Given the description of an element on the screen output the (x, y) to click on. 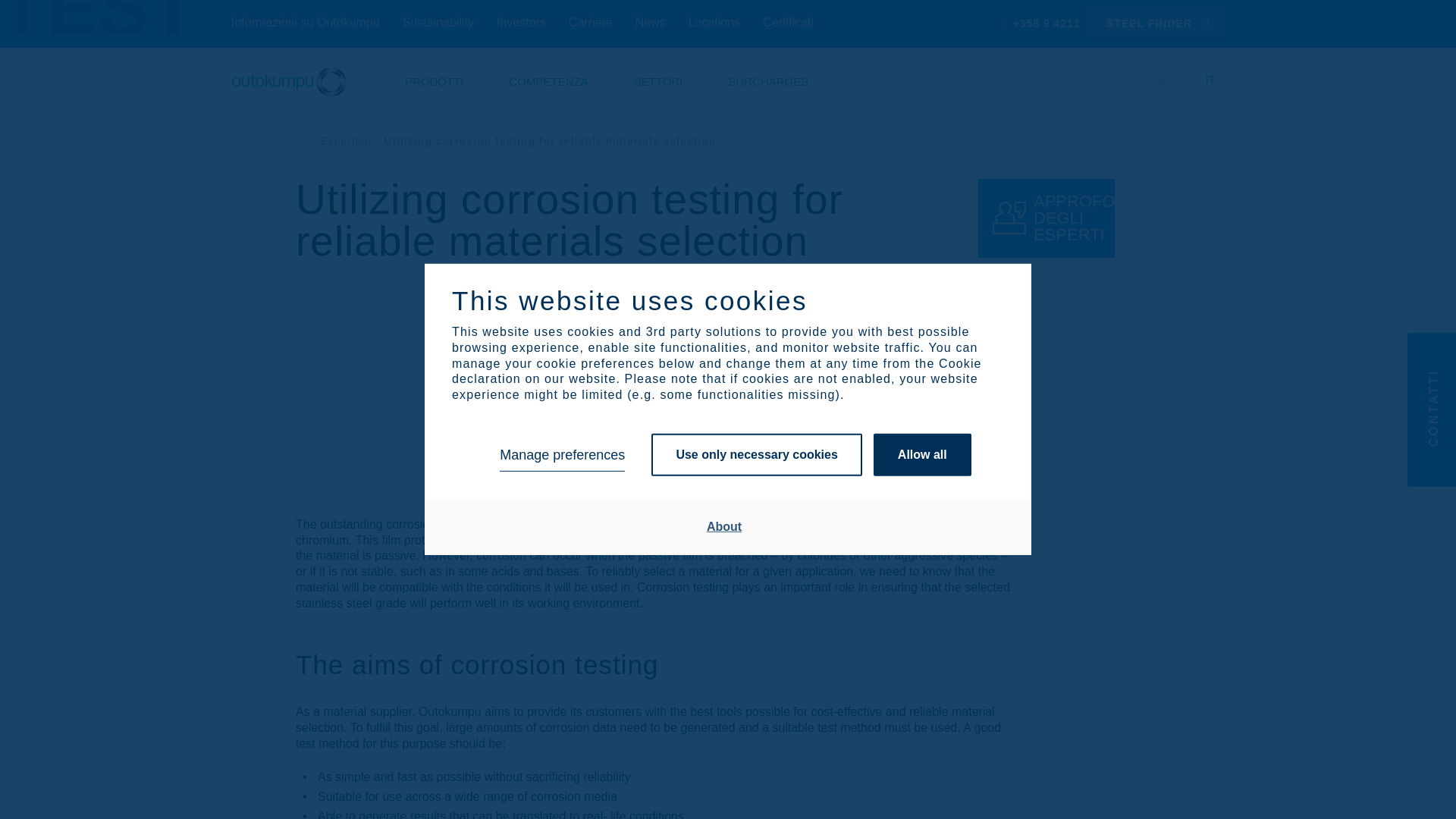
Manage preferences (561, 454)
About (724, 526)
Use only necessary cookies (755, 454)
Allow all (922, 454)
